Given the description of an element on the screen output the (x, y) to click on. 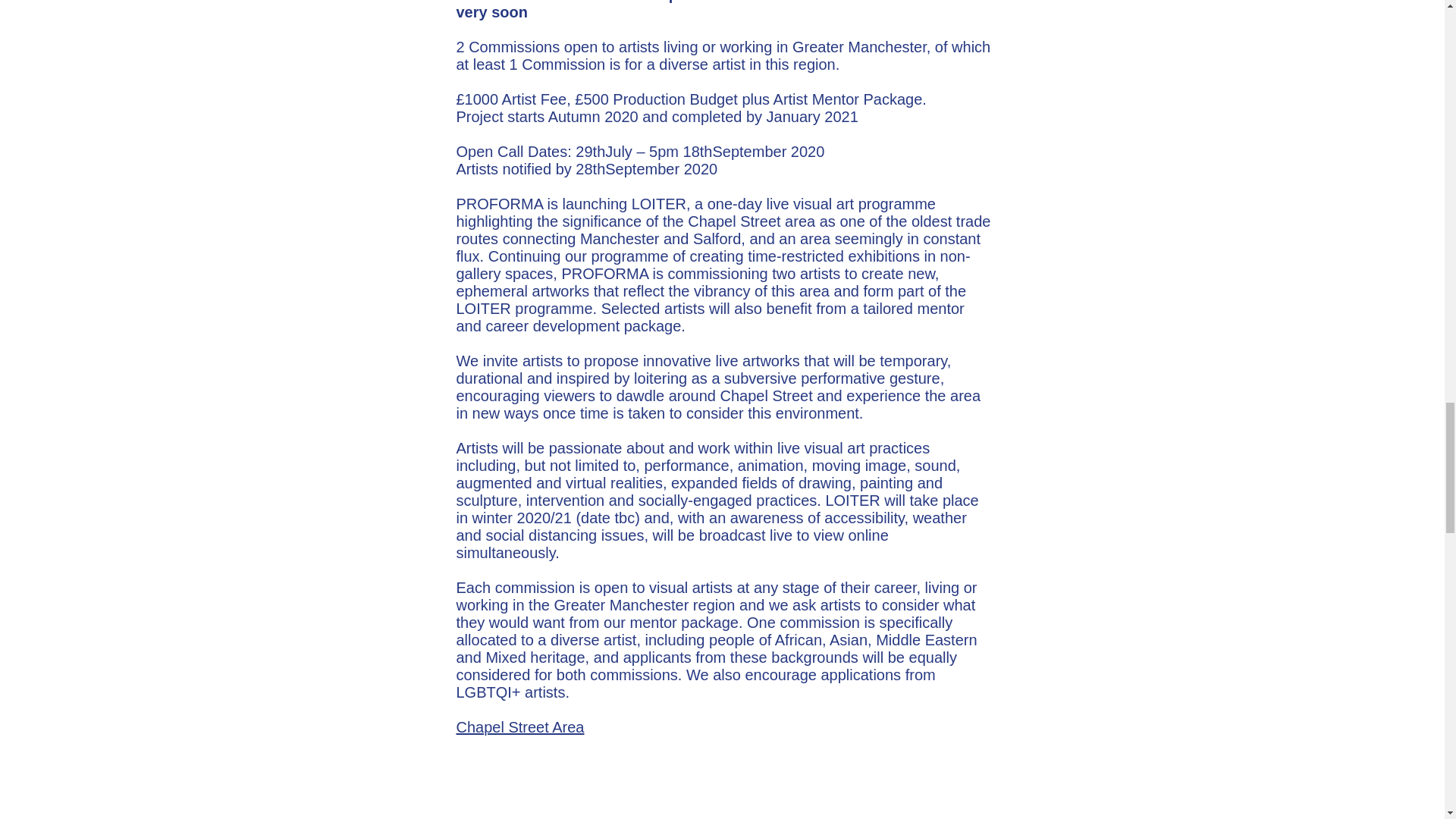
Chapel Street Area (521, 727)
